Given the description of an element on the screen output the (x, y) to click on. 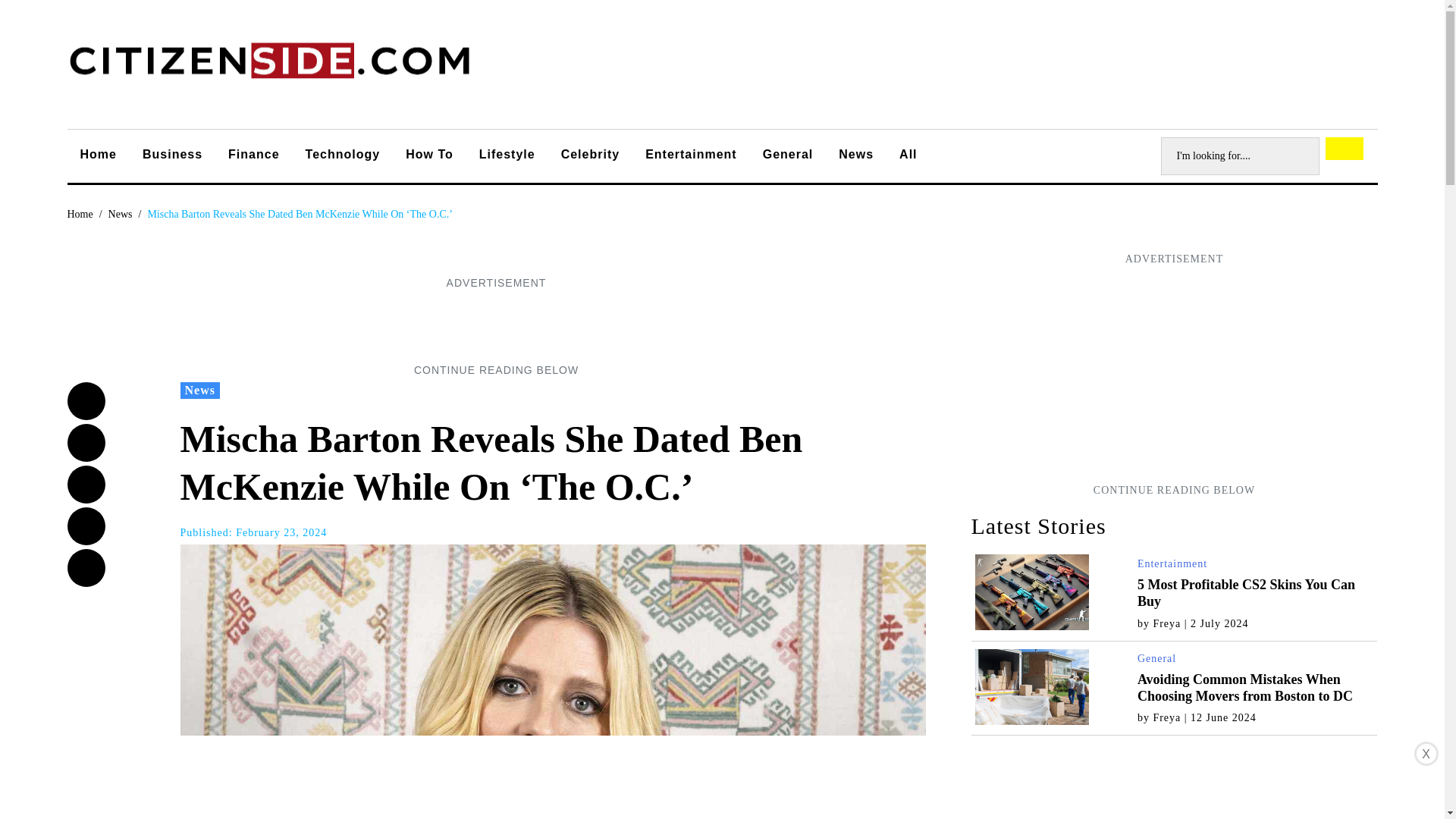
News (199, 390)
Entertainment (1172, 563)
Finance (253, 156)
Facebook (85, 401)
General (788, 156)
Home (97, 156)
Entertainment (690, 156)
LinkedIn (85, 525)
Advertisement (495, 326)
5 Most Profitable CS2 Skins You Can Buy (1246, 593)
Search for: (1239, 156)
News (119, 214)
Pinterest (85, 567)
Business (172, 156)
Technology (342, 156)
